Given the description of an element on the screen output the (x, y) to click on. 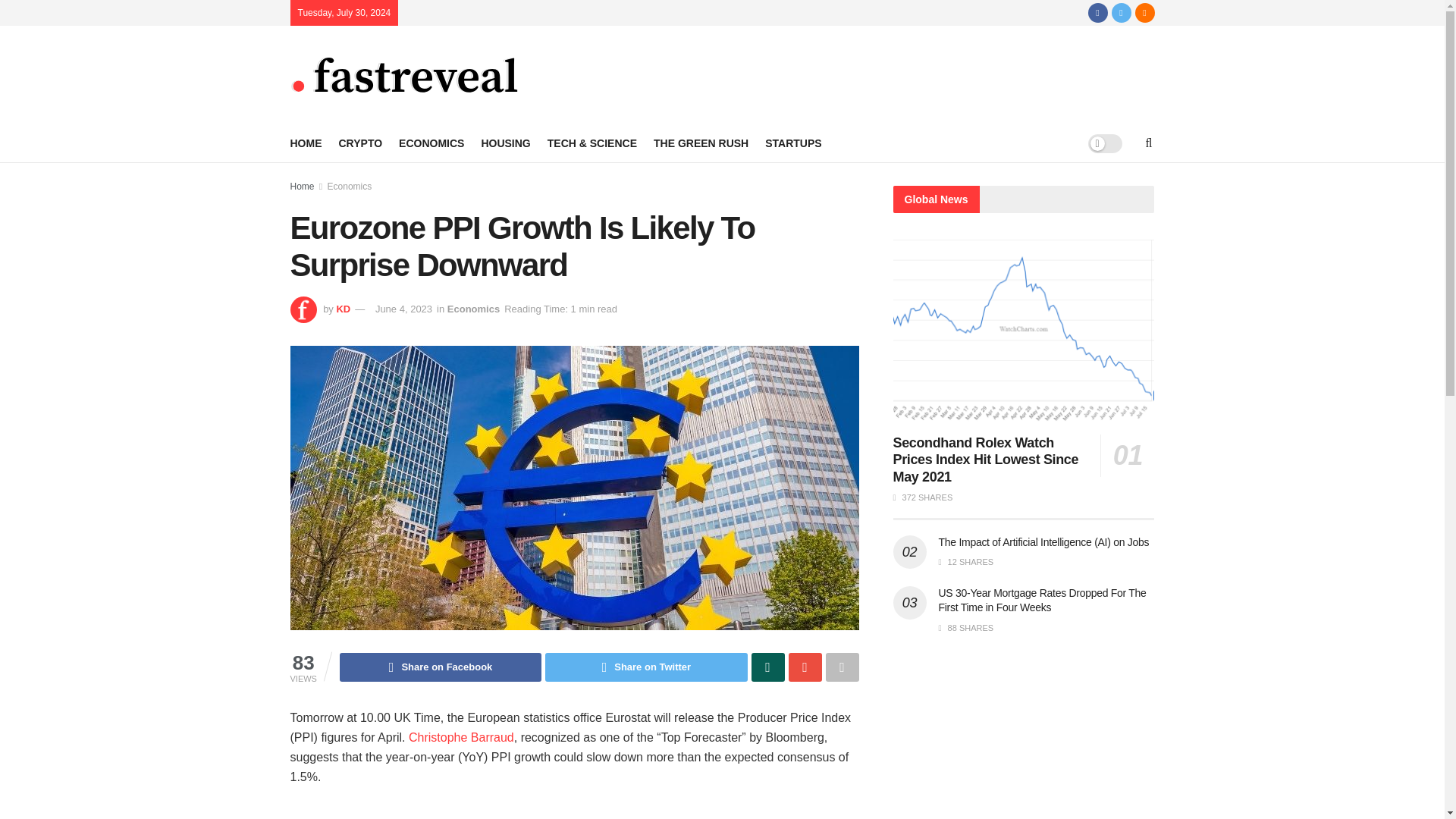
HOUSING (504, 142)
Economics (349, 185)
CRYPTO (359, 142)
HOME (305, 142)
Home (301, 185)
THE GREEN RUSH (700, 142)
June 4, 2023 (403, 308)
STARTUPS (793, 142)
KD (343, 308)
ECONOMICS (431, 142)
